Given the description of an element on the screen output the (x, y) to click on. 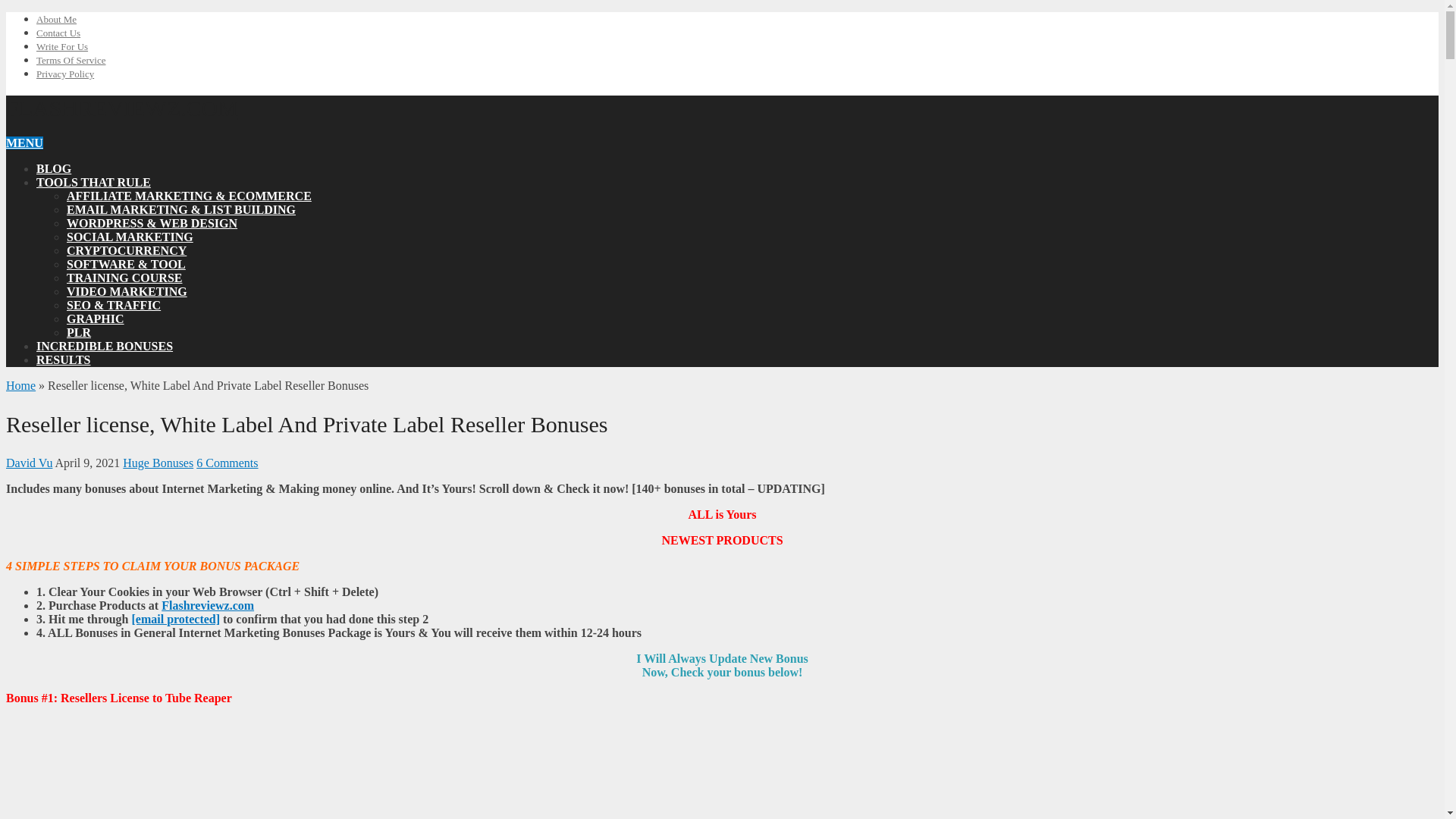
David Vu (28, 462)
FLASHREVIEWZ.COM (121, 107)
PLR (78, 332)
SOCIAL MARKETING (129, 236)
Privacy Policy (65, 73)
Terms Of Service (71, 60)
Huge Bonuses (157, 462)
BLOG (53, 168)
TRAINING COURSE (124, 277)
VIDEO MARKETING (126, 291)
